Given the description of an element on the screen output the (x, y) to click on. 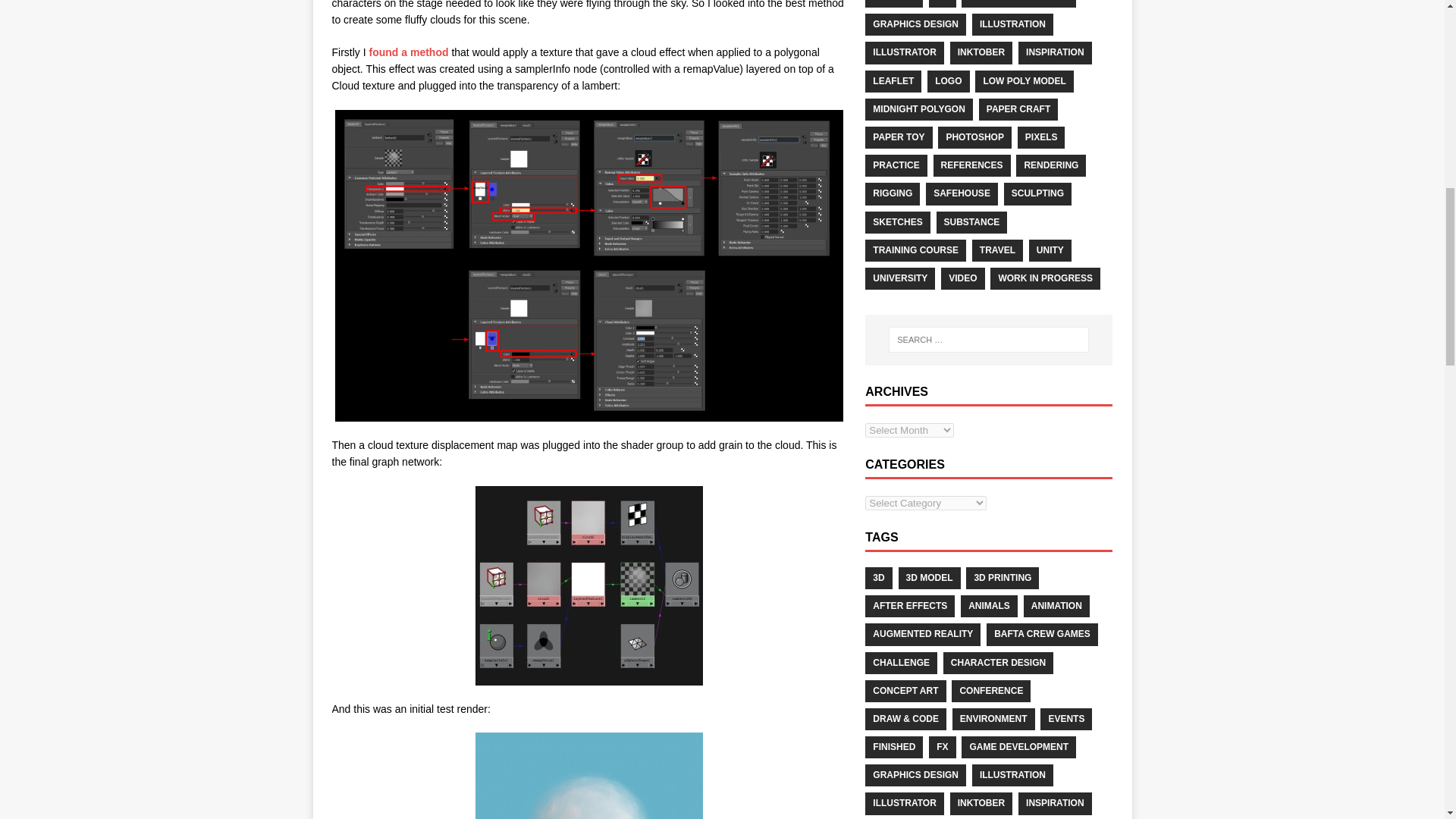
Simple Clouds (408, 51)
found a method (408, 51)
